Given the description of an element on the screen output the (x, y) to click on. 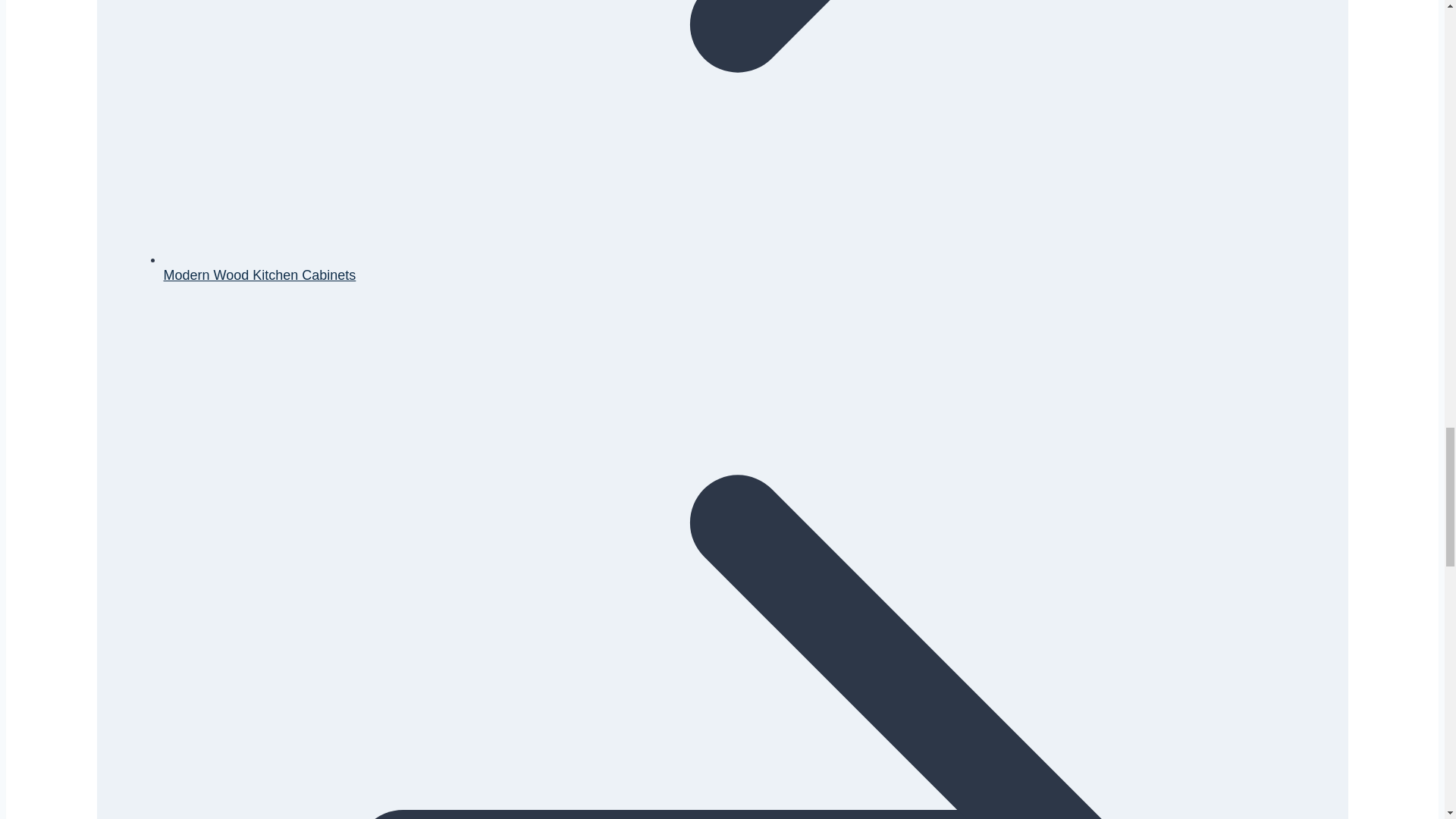
Modern Wood Kitchen Cabinets (259, 274)
